Given the description of an element on the screen output the (x, y) to click on. 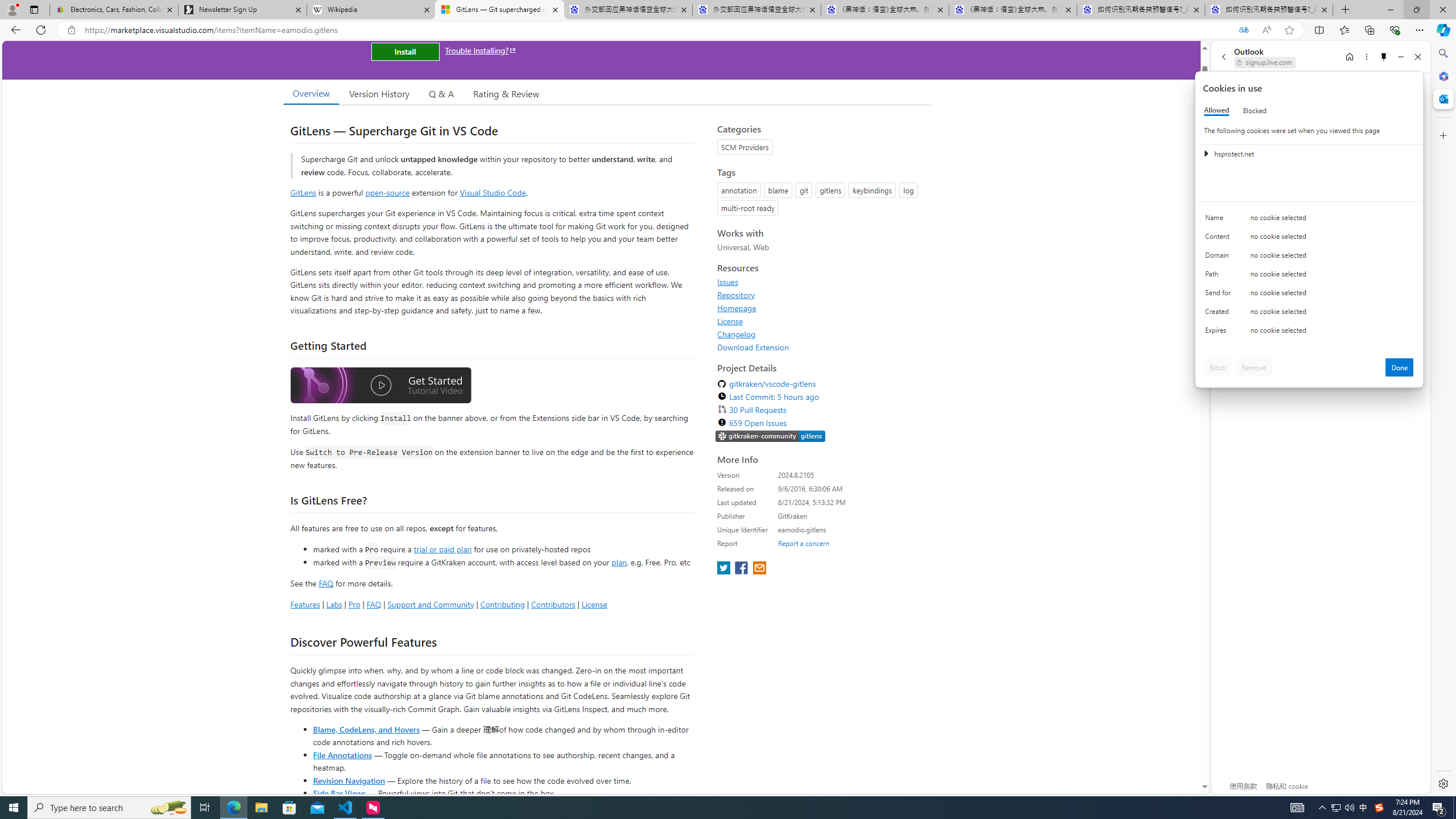
Revision Navigation (348, 780)
Contributors (552, 603)
Visual Studio Code (492, 192)
Unpin side pane (1383, 56)
Labs (334, 603)
